Given the description of an element on the screen output the (x, y) to click on. 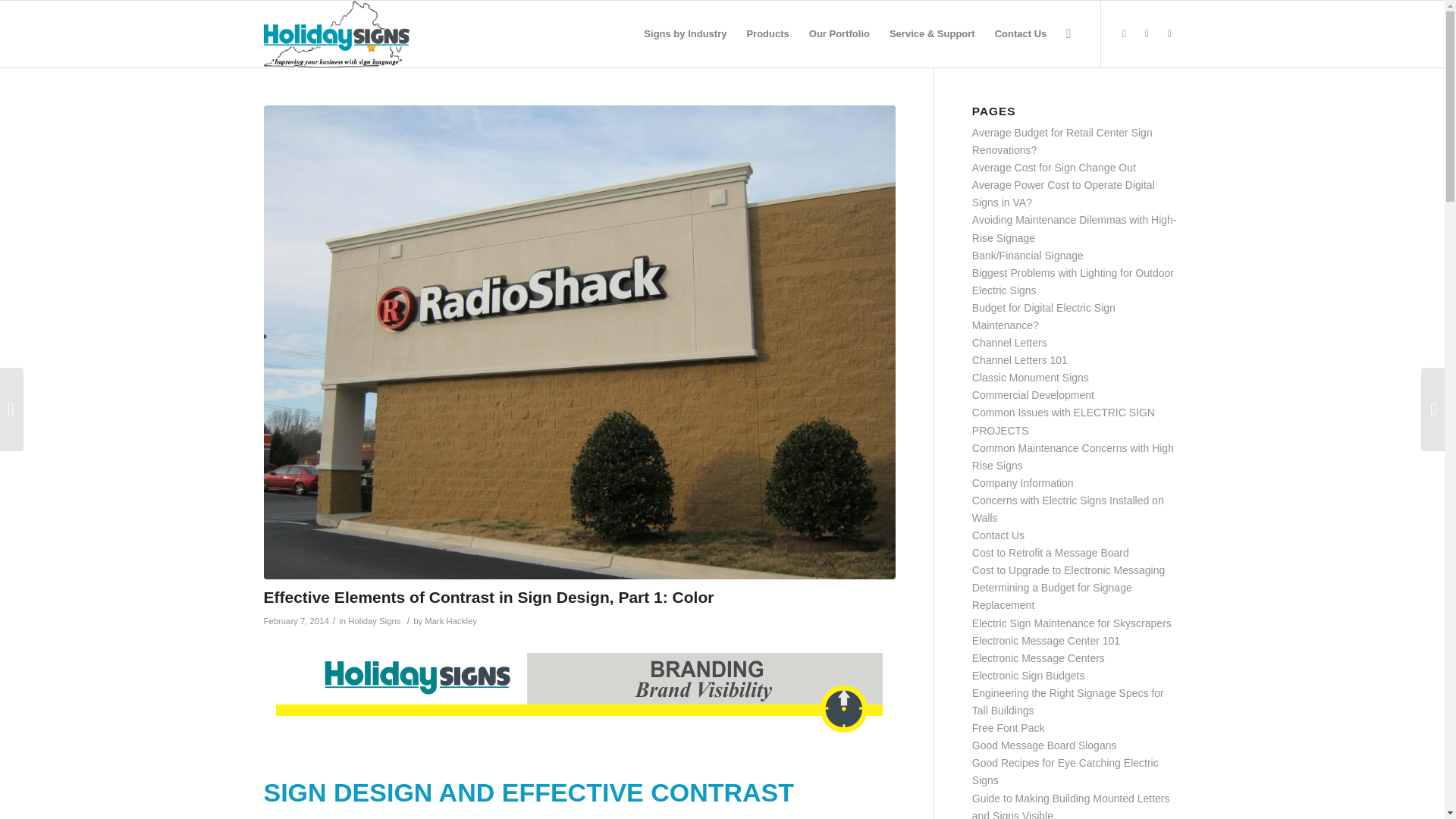
Products (766, 33)
Our Portfolio (839, 33)
Contact Us (1021, 33)
Holiday Signs (373, 620)
Signs by Industry (684, 33)
Posts by Mark Hackley (451, 620)
LinkedIn (1146, 33)
Effective Elements of Contrast in Sign Design, Part 1: Color (488, 597)
Instagram (1169, 33)
Mark Hackley (451, 620)
Facebook (1124, 33)
